Given the description of an element on the screen output the (x, y) to click on. 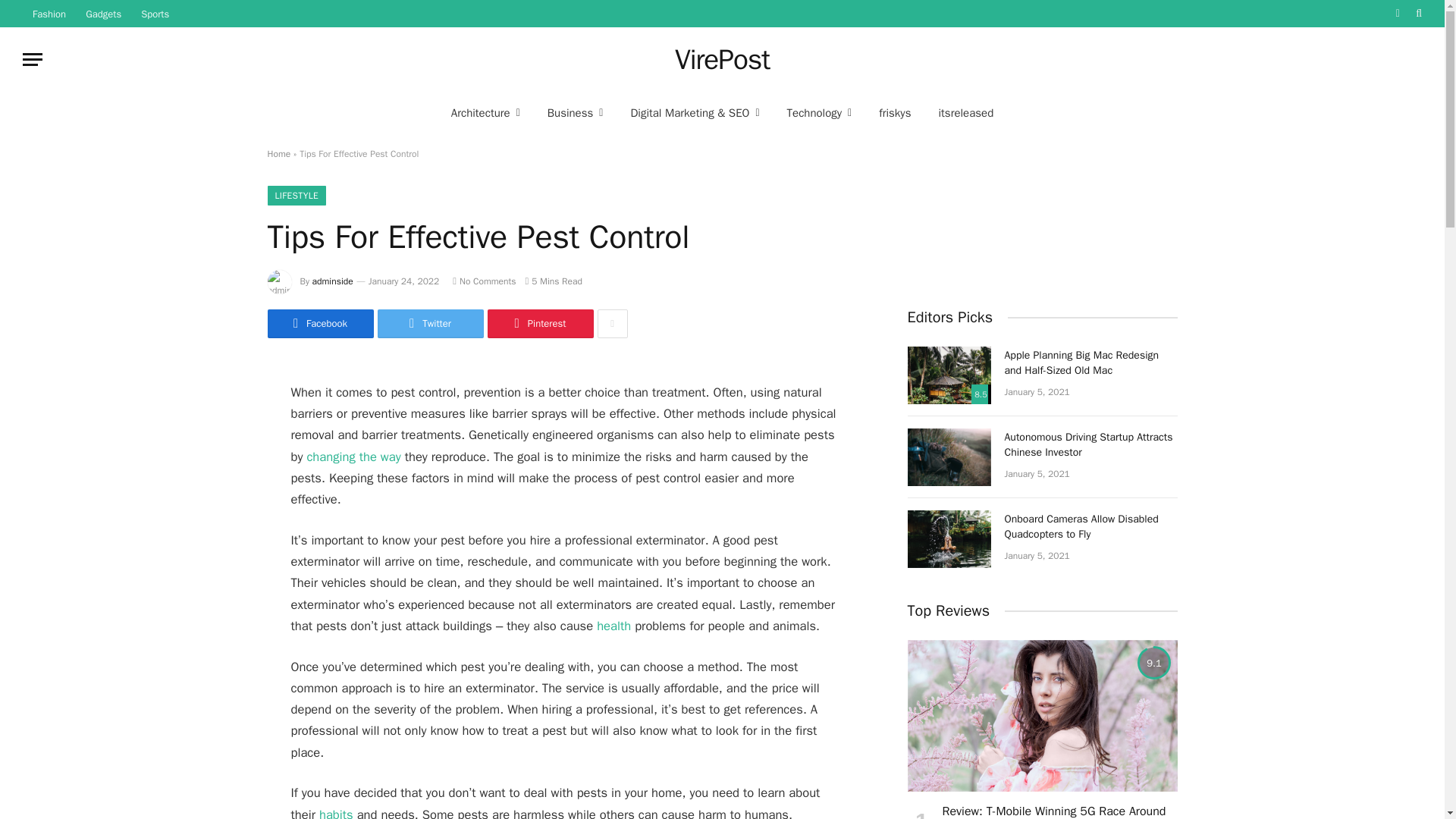
Fashion (49, 13)
Share on Facebook (319, 323)
Gadgets (103, 13)
Sports (155, 13)
Share on Pinterest (539, 323)
Switch to Dark Design - easier on eyes. (1397, 13)
Architecture (486, 112)
VirePost (722, 59)
VirePost (722, 59)
Posts by adminside (333, 281)
